Given the description of an element on the screen output the (x, y) to click on. 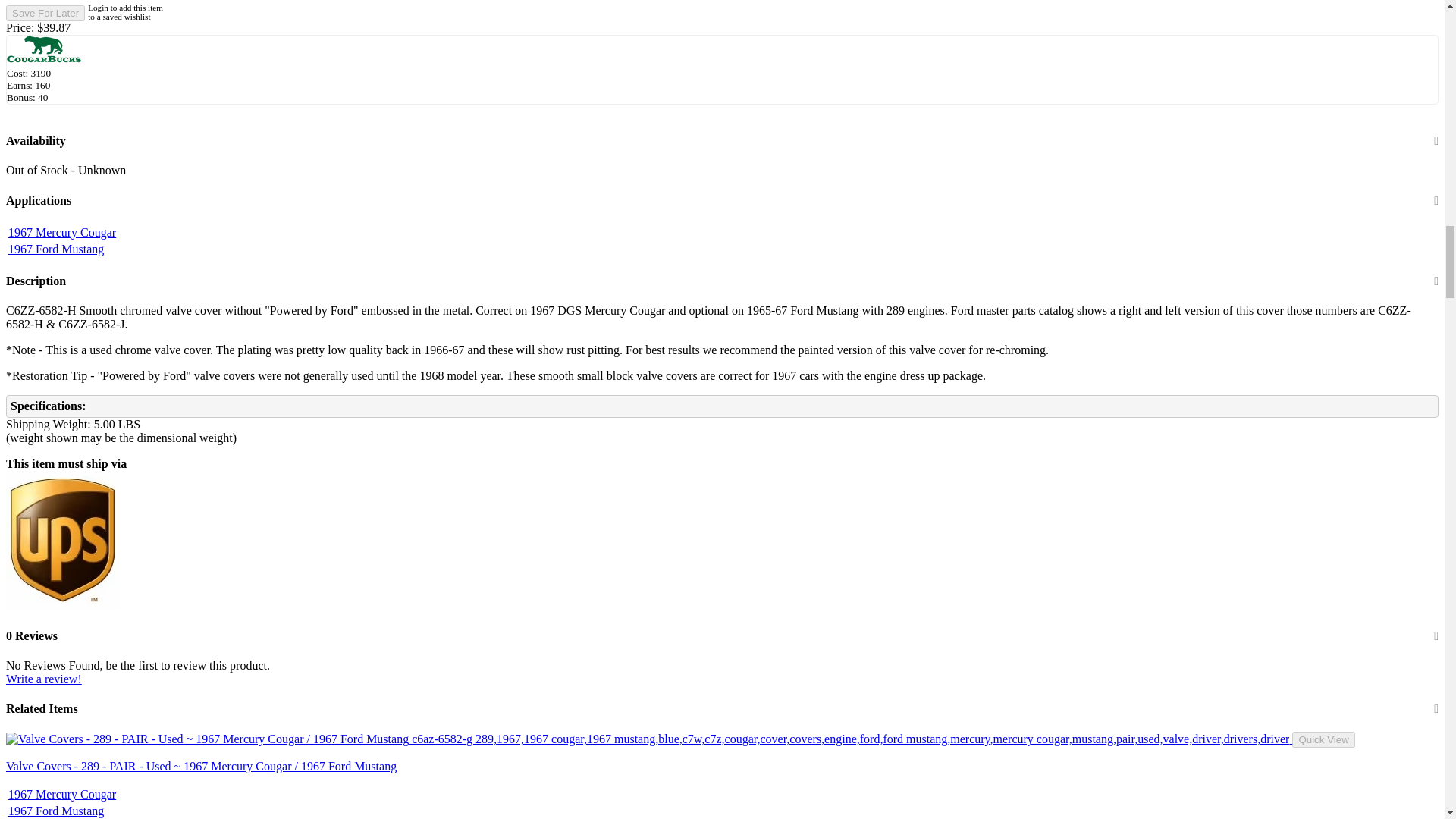
Save For Later (44, 12)
What is Dimensional Weight? (184, 437)
CougarBucks Rewards (44, 50)
